Given the description of an element on the screen output the (x, y) to click on. 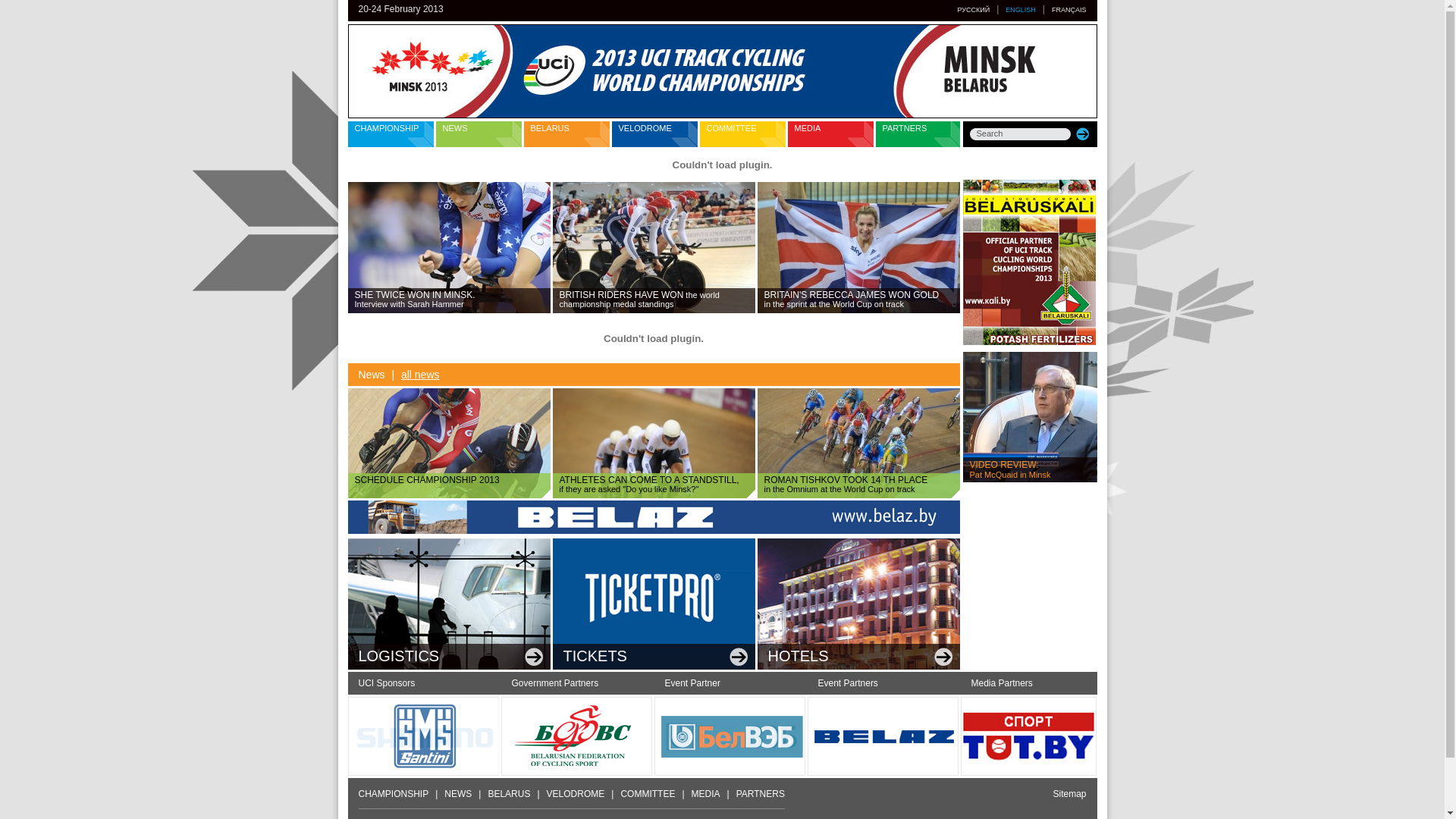
Sitemap Element type: text (1068, 793)
VIDEO REVIEW:
Pat McQuaid in Minsk Element type: text (1030, 416)
SHE TWICE WON IN MINSK.
Interview with Sarah Hammer Element type: text (448, 247)
VELODROME Element type: text (653, 134)
all news Element type: text (420, 374)
TICKETS Element type: text (653, 603)
MEDIA Element type: text (705, 793)
COMMITTEE Element type: text (647, 793)
PARTNERS Element type: text (760, 793)
MEDIA Element type: text (829, 134)
NEWS Element type: text (477, 134)
BELARUS Element type: text (565, 134)
COMMITTEE Element type: text (741, 134)
ENGLISH Element type: text (1020, 9)
CHAMPIONSHIP Element type: text (390, 134)
BELARUS Element type: text (508, 793)
VELODROME Element type: text (575, 793)
LOGISTICS Element type: text (448, 603)
PARTNERS Element type: text (917, 134)
CHAMPIONSHIP Element type: text (392, 793)
HOTELS Element type: text (857, 603)
NEWS Element type: text (457, 793)
SCHEDULE CHAMPIONSHIP 2013 Element type: text (448, 443)
